Given the description of an element on the screen output the (x, y) to click on. 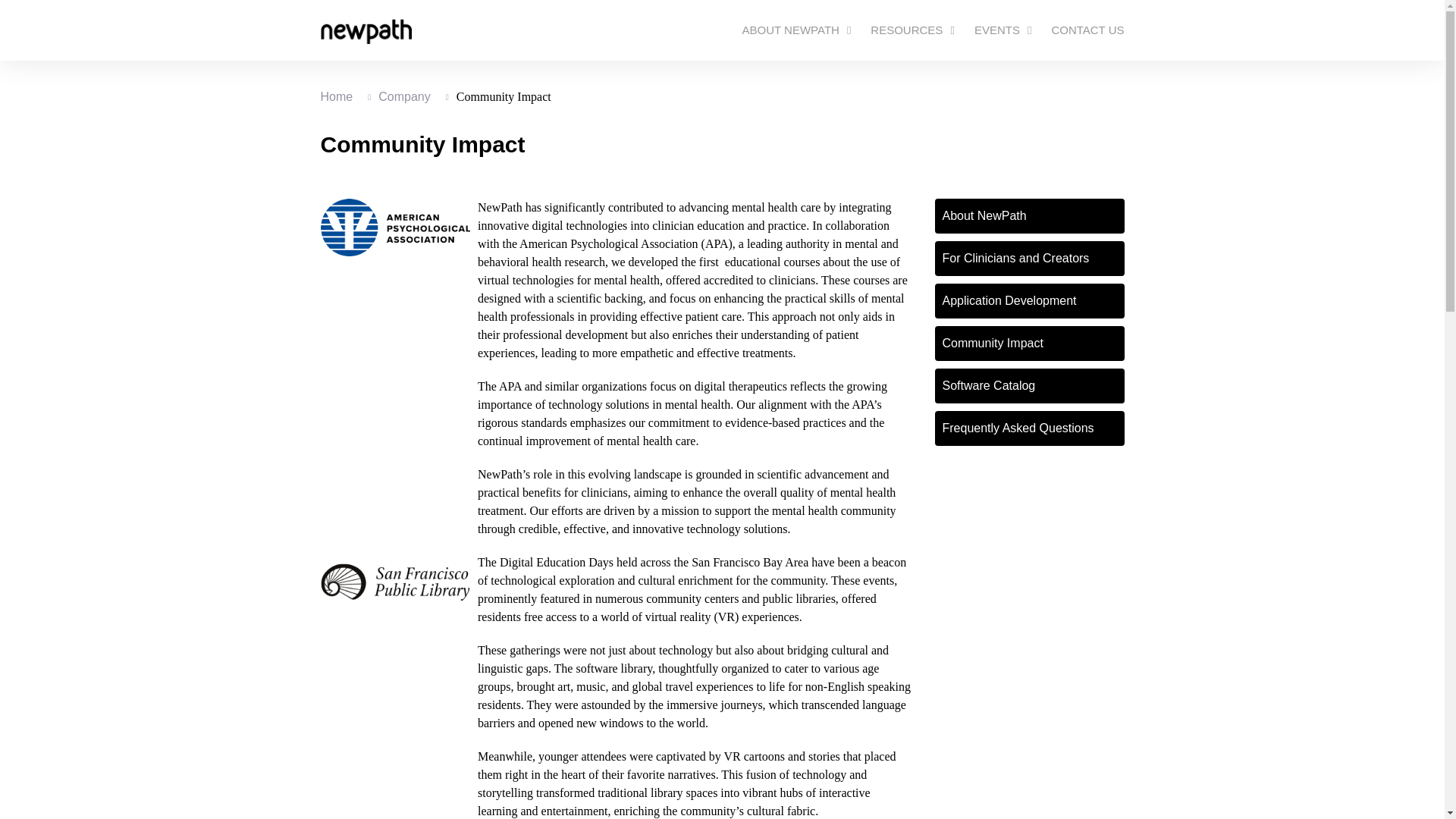
CONTACT US (1087, 30)
EVENTS (1002, 30)
RESOURCES (912, 30)
ABOUT NEWPATH (797, 30)
